Given the description of an element on the screen output the (x, y) to click on. 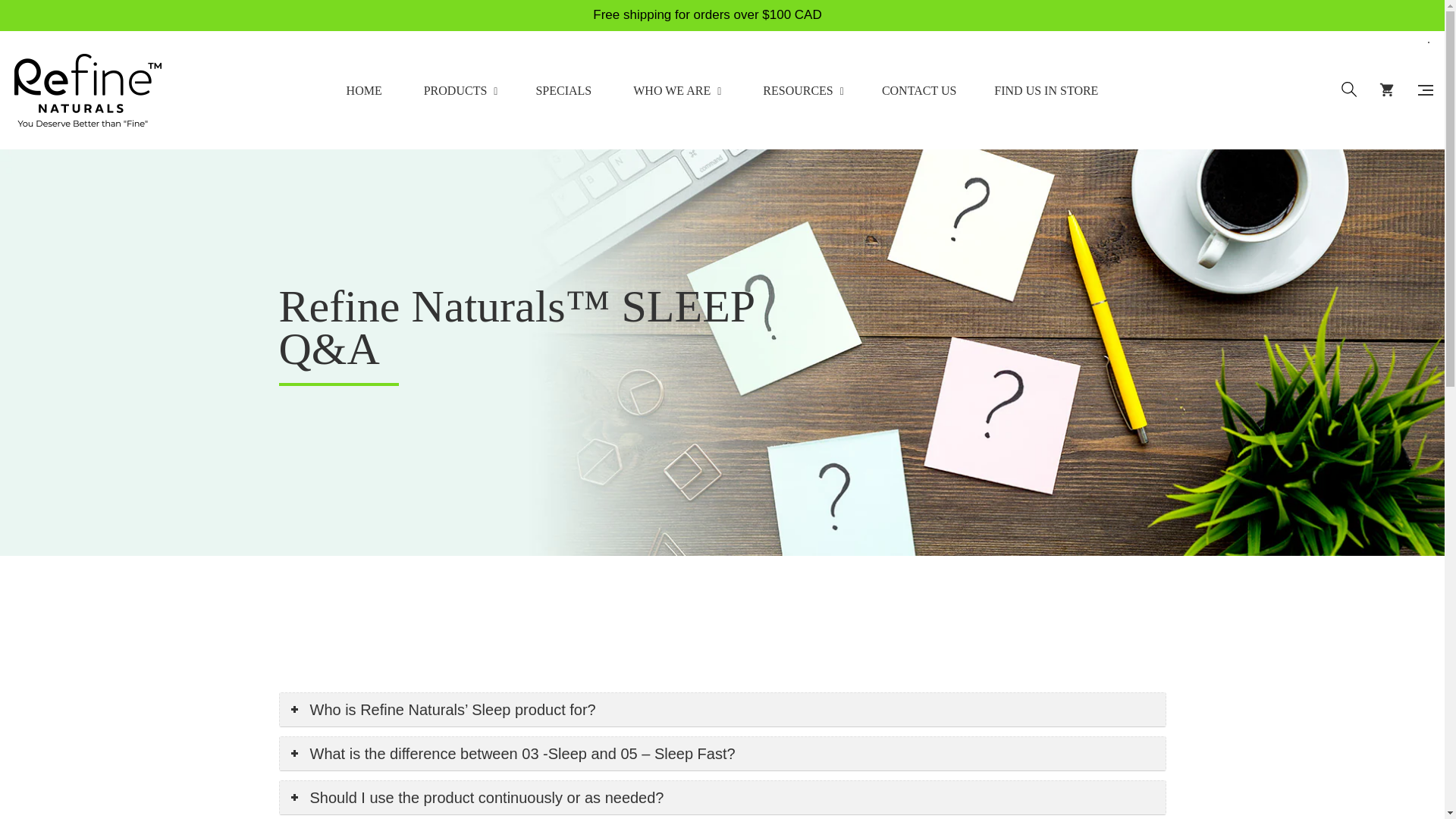
HOME (364, 90)
WHO WE ARE (676, 90)
FIND US IN STORE (1045, 90)
PRODUCTS (460, 90)
SPECIALS (563, 90)
RESOURCES (803, 90)
WHO WE ARE (676, 90)
CONTACT US (919, 90)
RESOURCES (803, 90)
PRODUCTS (460, 90)
